Given the description of an element on the screen output the (x, y) to click on. 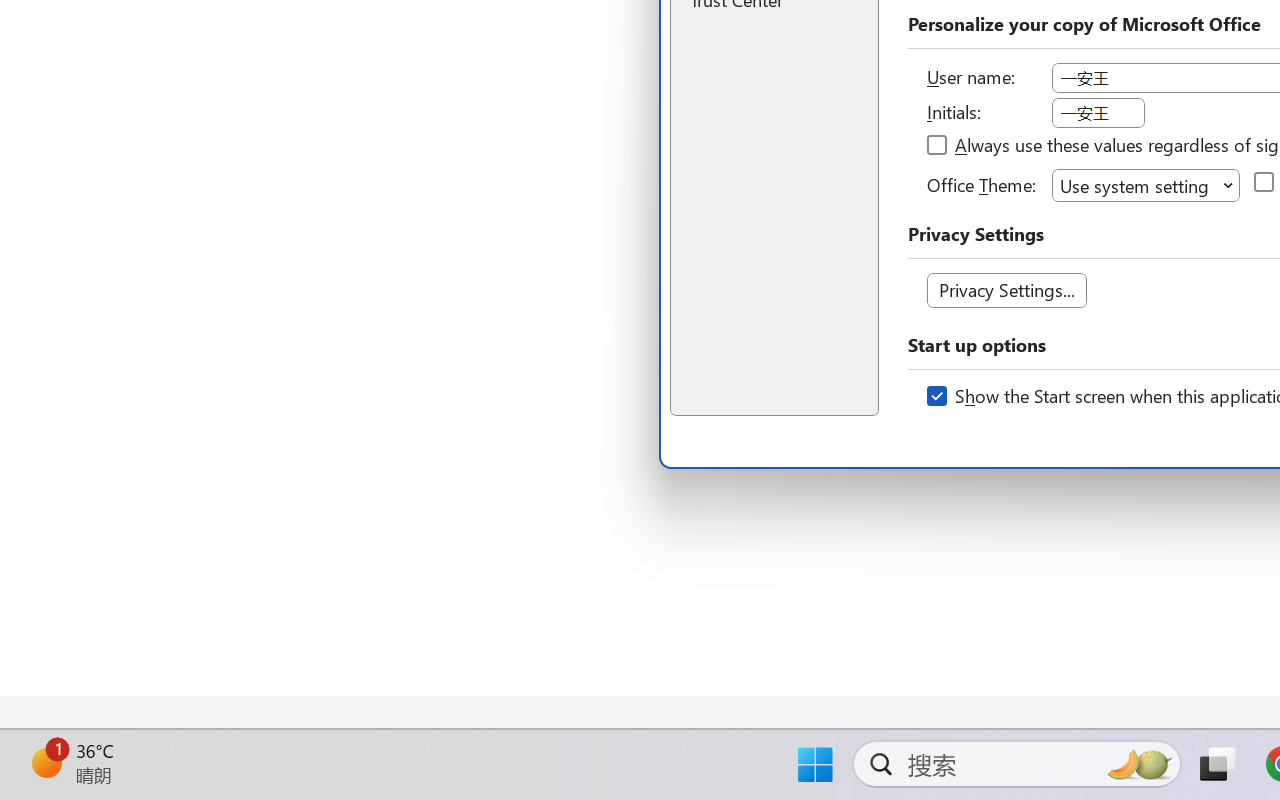
Office Theme (1146, 184)
Privacy Settings... (1006, 290)
Initials (1098, 113)
